Given the description of an element on the screen output the (x, y) to click on. 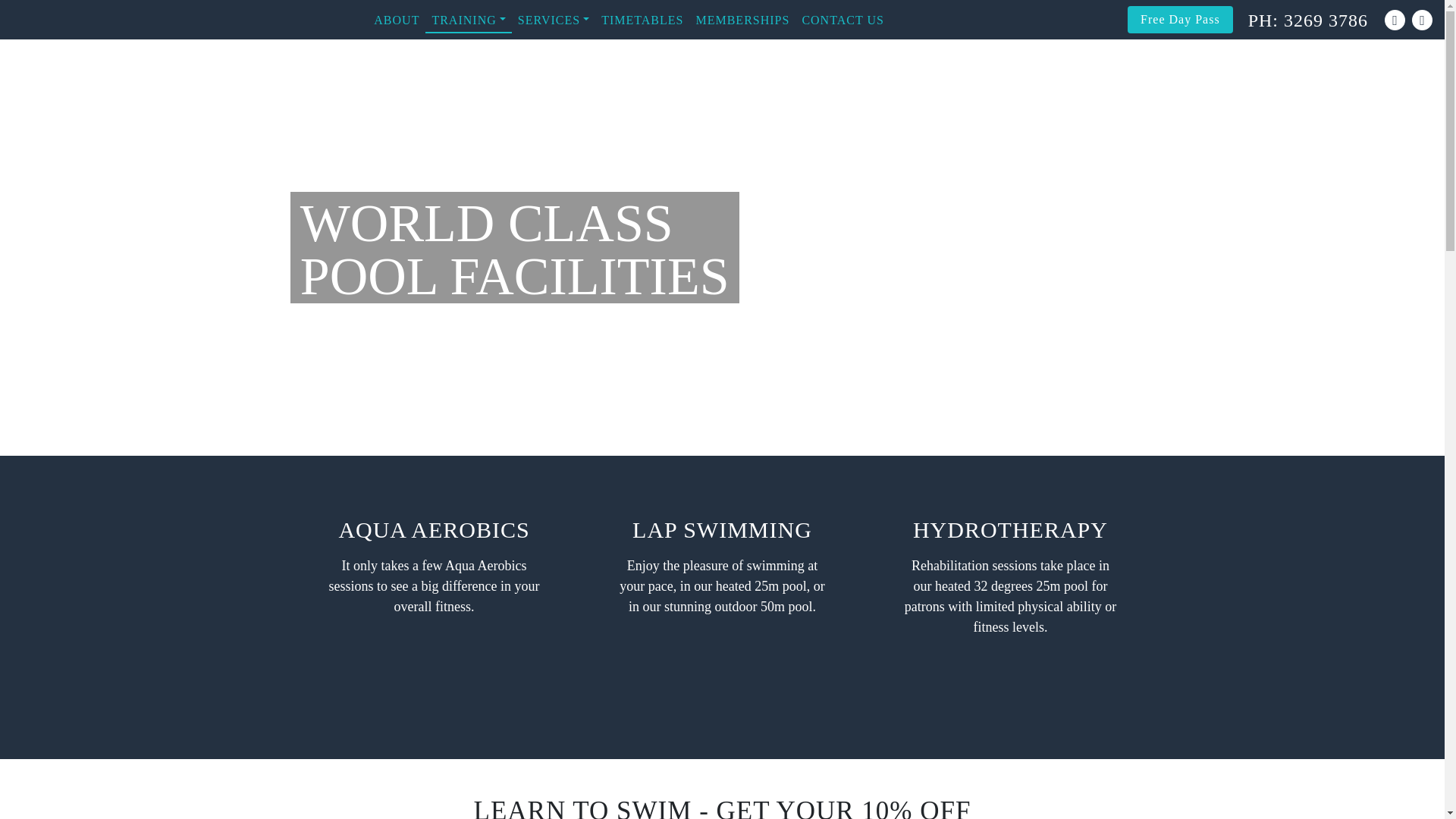
MEMBERSHIPS (741, 21)
ABOUT (396, 21)
SERVICES (553, 21)
TRAINING (468, 21)
TIMETABLES (641, 21)
Free Day Pass (1179, 19)
CONTACT US (841, 21)
Contact Us (841, 21)
Services (553, 21)
About (396, 21)
Timetables (641, 21)
Training (468, 21)
Memberships (741, 21)
PH: 3269 3786 (1307, 20)
